Given the description of an element on the screen output the (x, y) to click on. 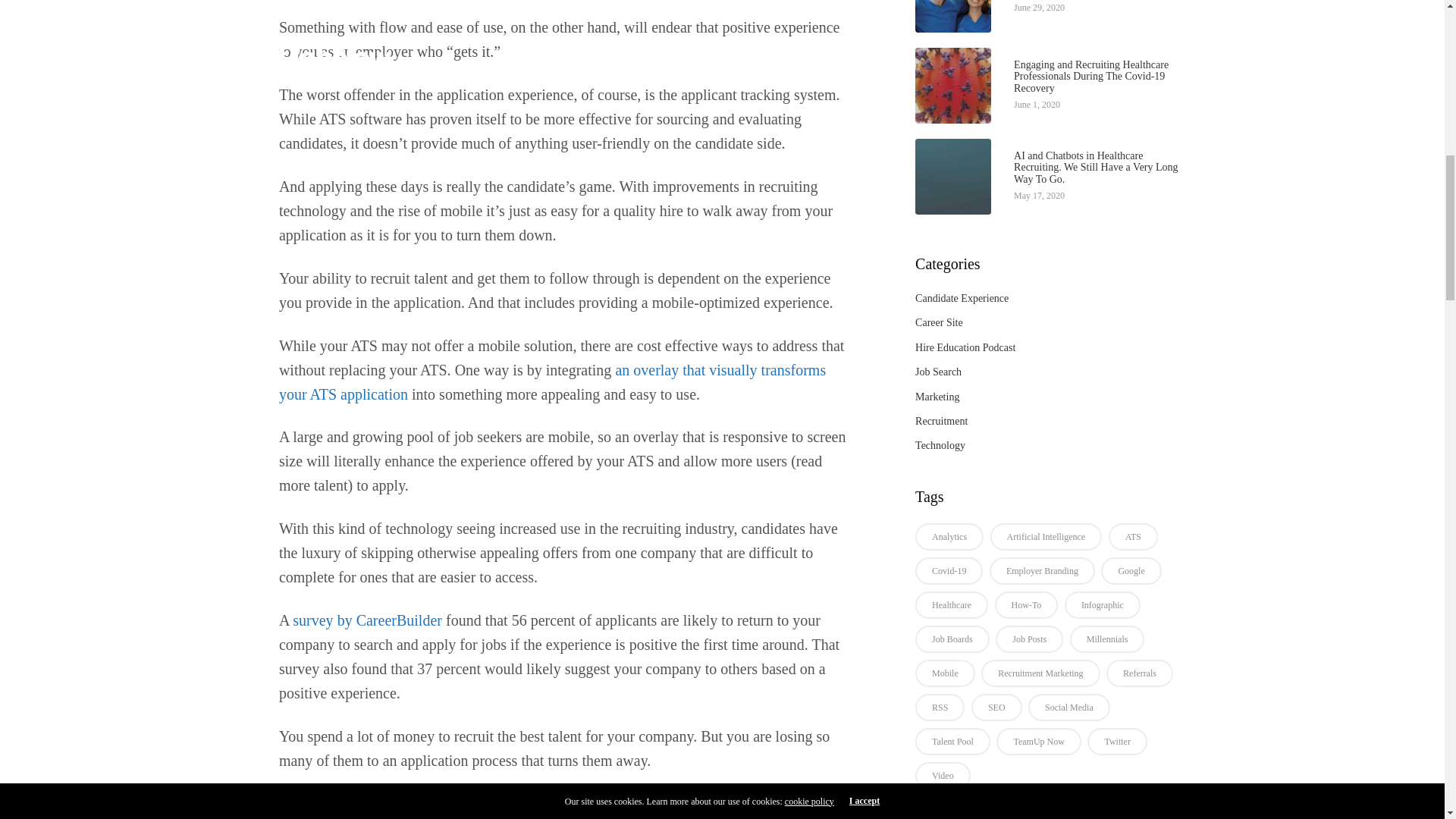
Career Site (938, 322)
an overlay that visually transforms your ATS application (552, 381)
Hire Education Podcast (964, 347)
survey by CareerBuilder (367, 619)
Job Search (937, 371)
Candidate Experience (962, 297)
